Given the description of an element on the screen output the (x, y) to click on. 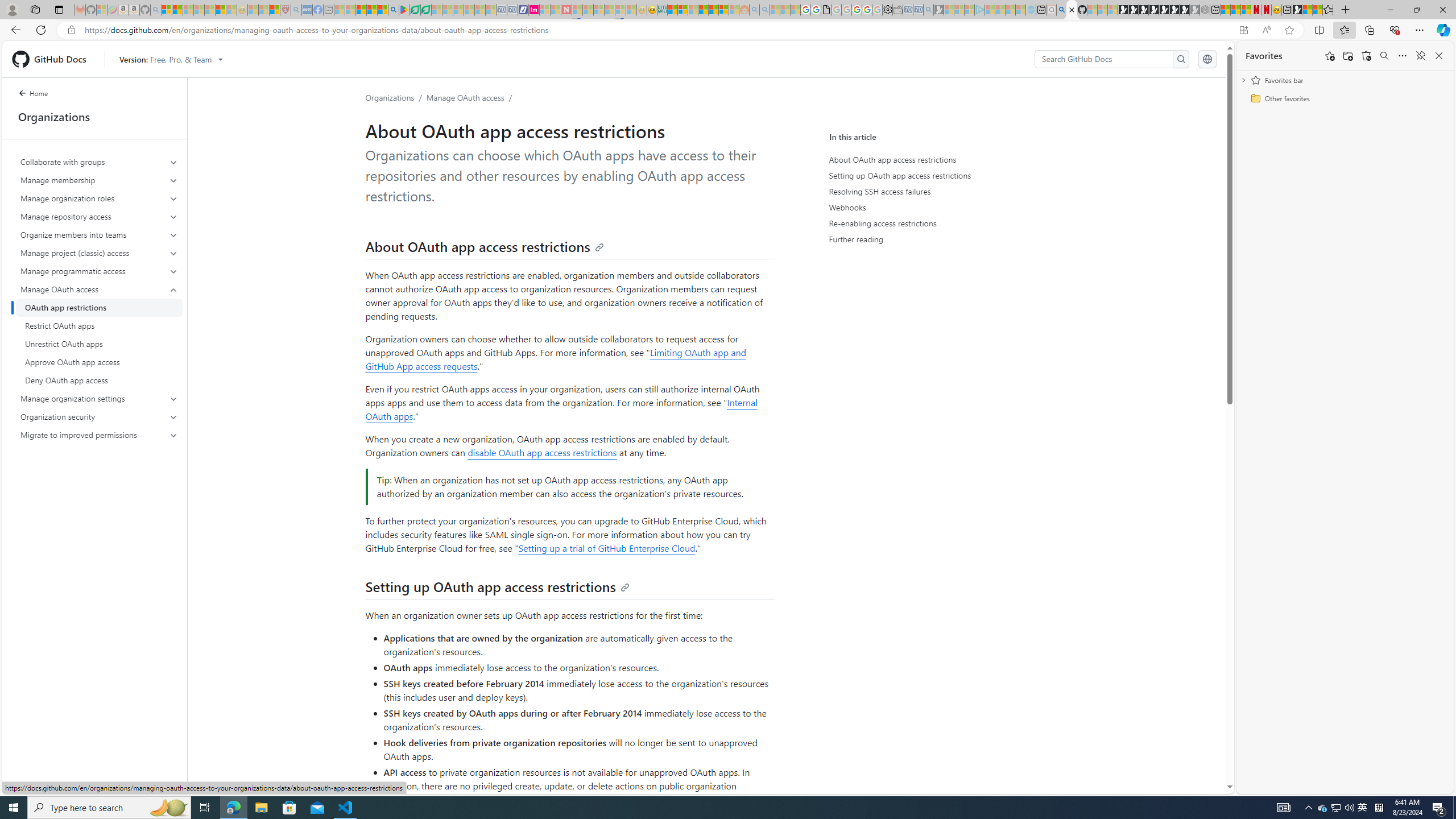
Organizations (389, 97)
Kinda Frugal - MSN (713, 9)
Resolving SSH access failures (935, 191)
About OAuth app access restrictions (933, 159)
Manage OAuth access/ (471, 97)
Approve OAuth app access (99, 361)
About OAuth app access restrictions - GitHub Docs (1071, 9)
